Given the description of an element on the screen output the (x, y) to click on. 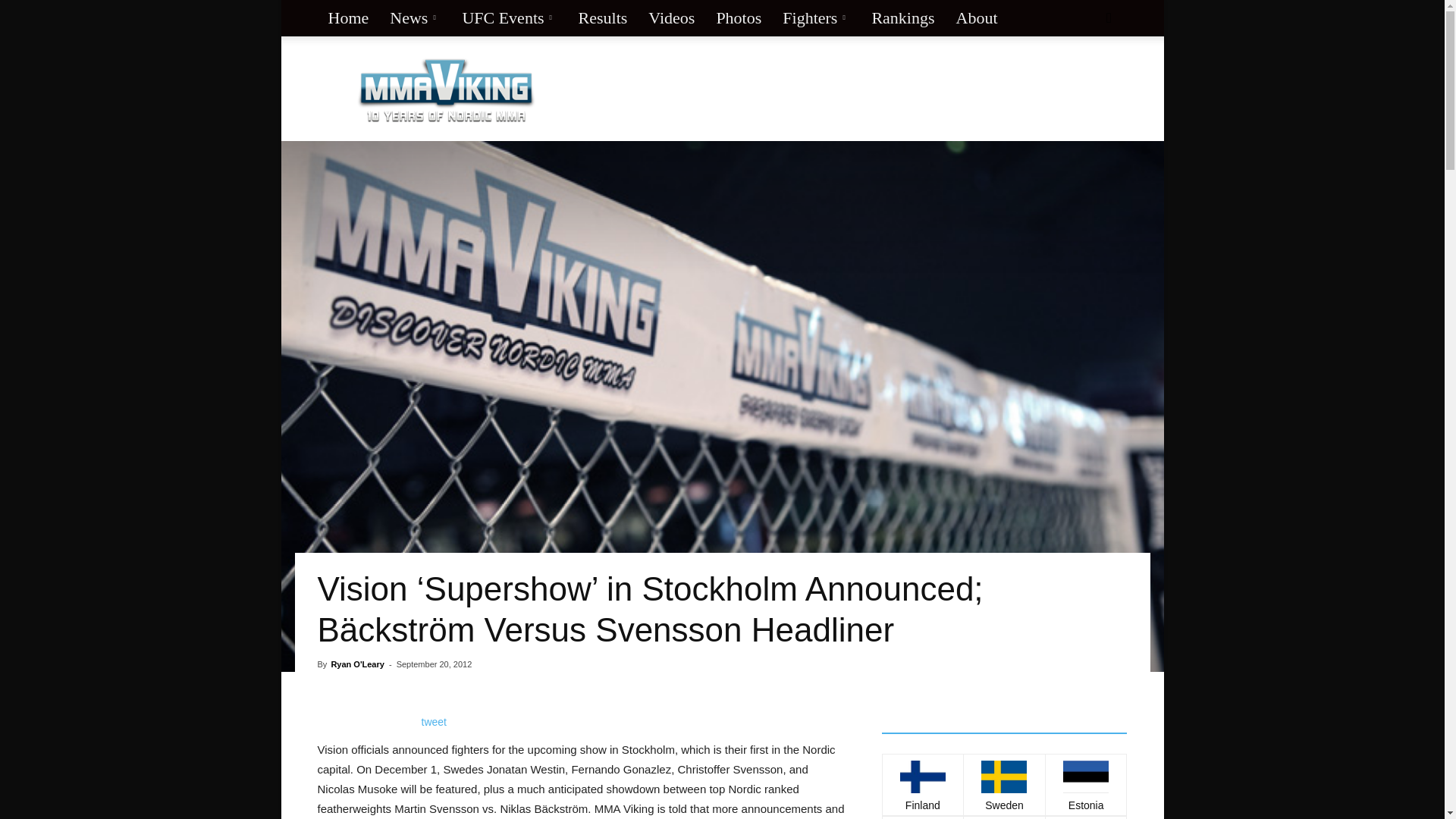
Nordic MMA Everyday (445, 88)
